Given the description of an element on the screen output the (x, y) to click on. 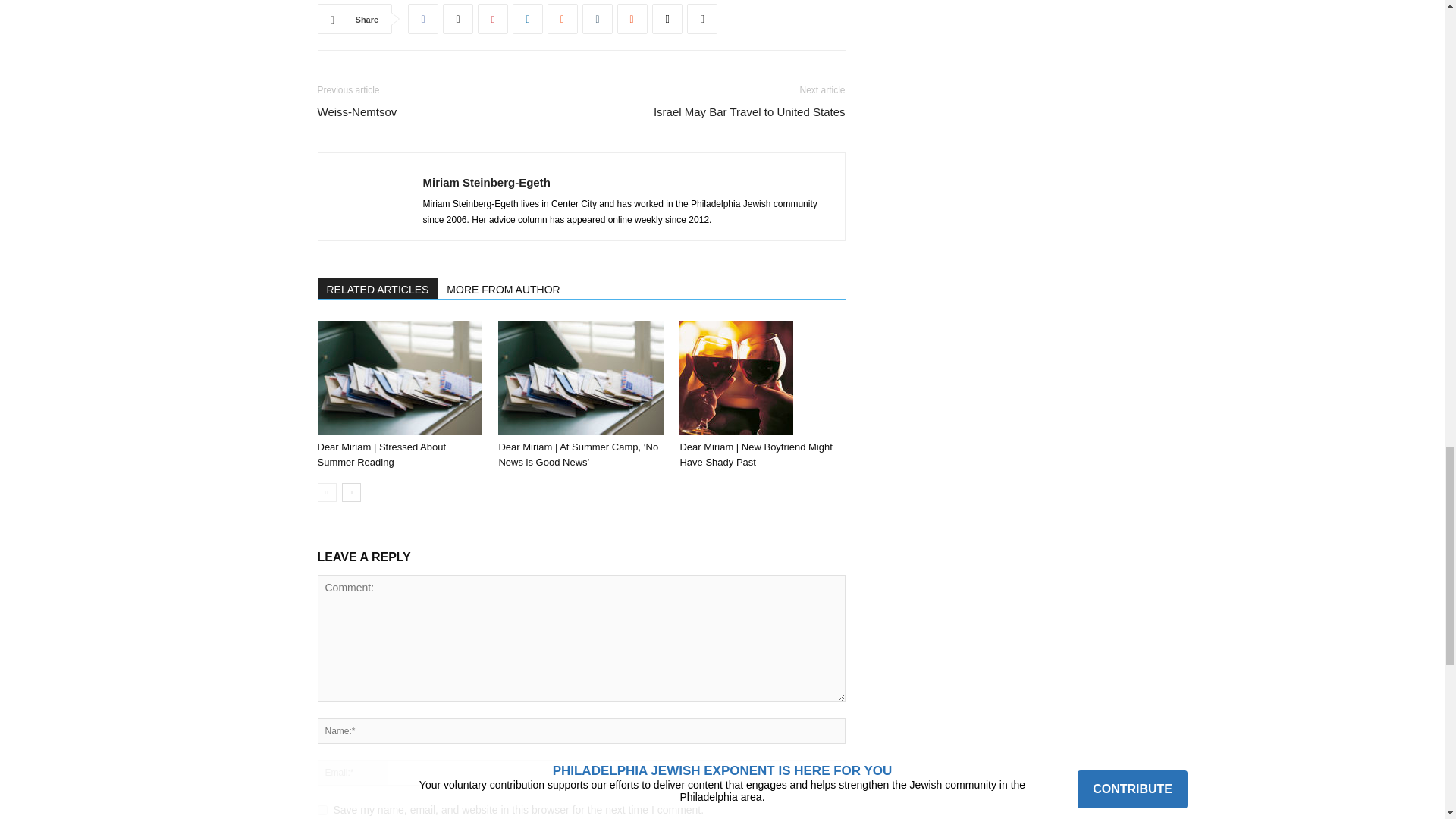
yes (321, 809)
Twitter (457, 19)
Facebook (422, 19)
